Given the description of an element on the screen output the (x, y) to click on. 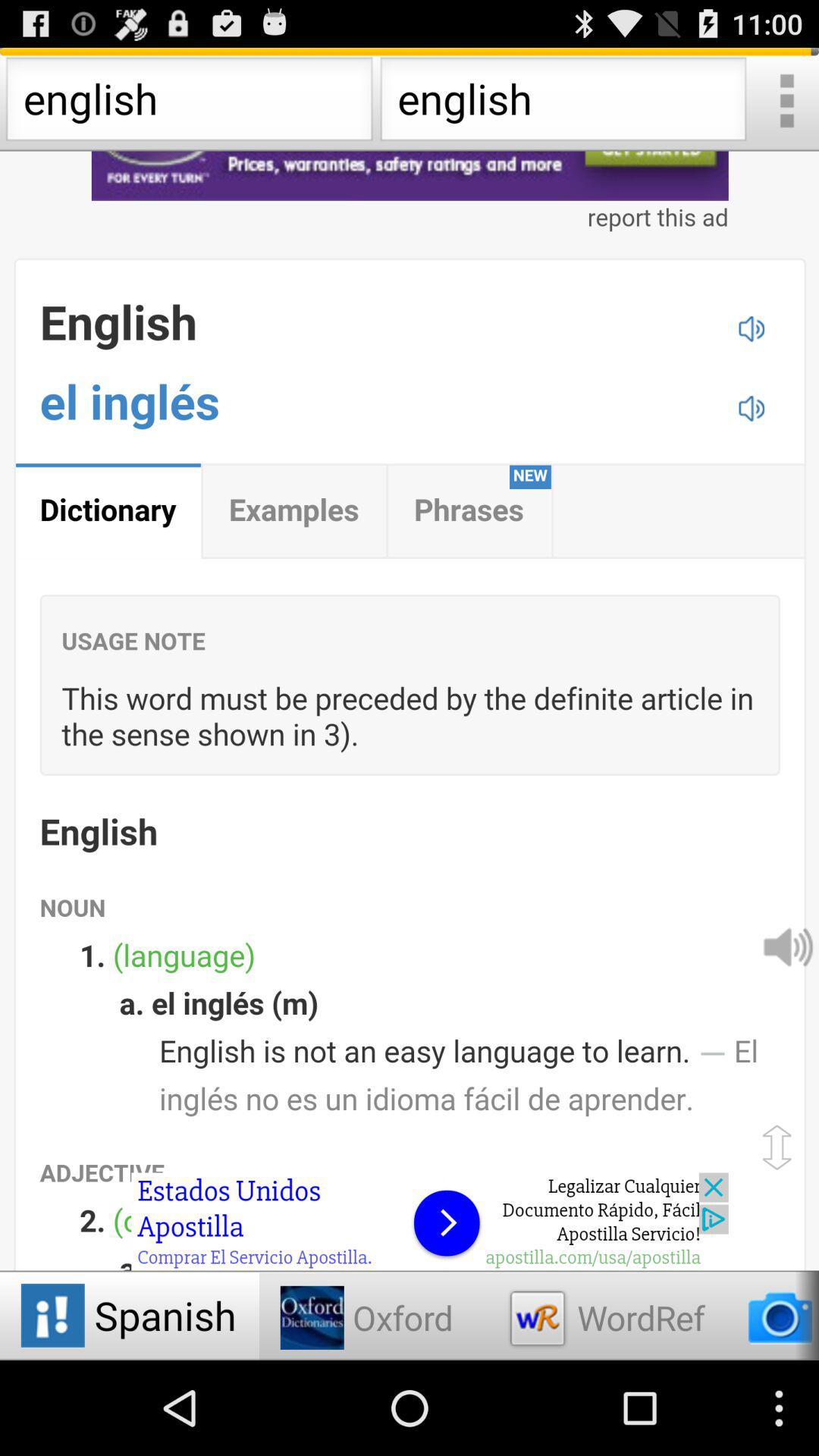
expand menu (785, 103)
